Given the description of an element on the screen output the (x, y) to click on. 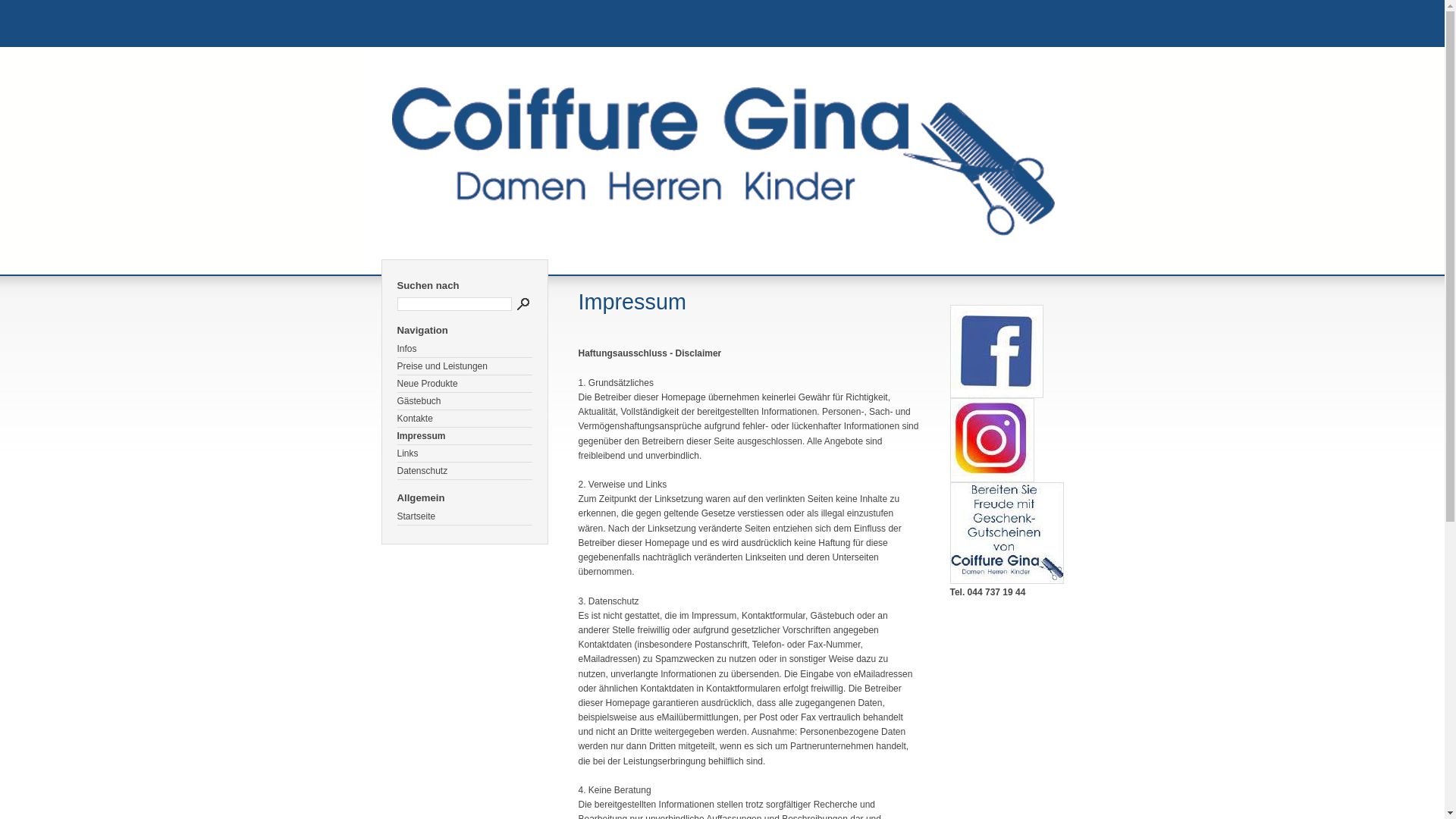
Neue Produkte Element type: text (464, 383)
Kontakte Element type: text (464, 418)
Preise und Leistungen Element type: text (464, 366)
Infos Element type: text (464, 348)
Startseite Element type: text (464, 516)
Datenschutz Element type: text (464, 471)
Links Element type: text (464, 453)
Impressum Element type: text (464, 436)
